Given the description of an element on the screen output the (x, y) to click on. 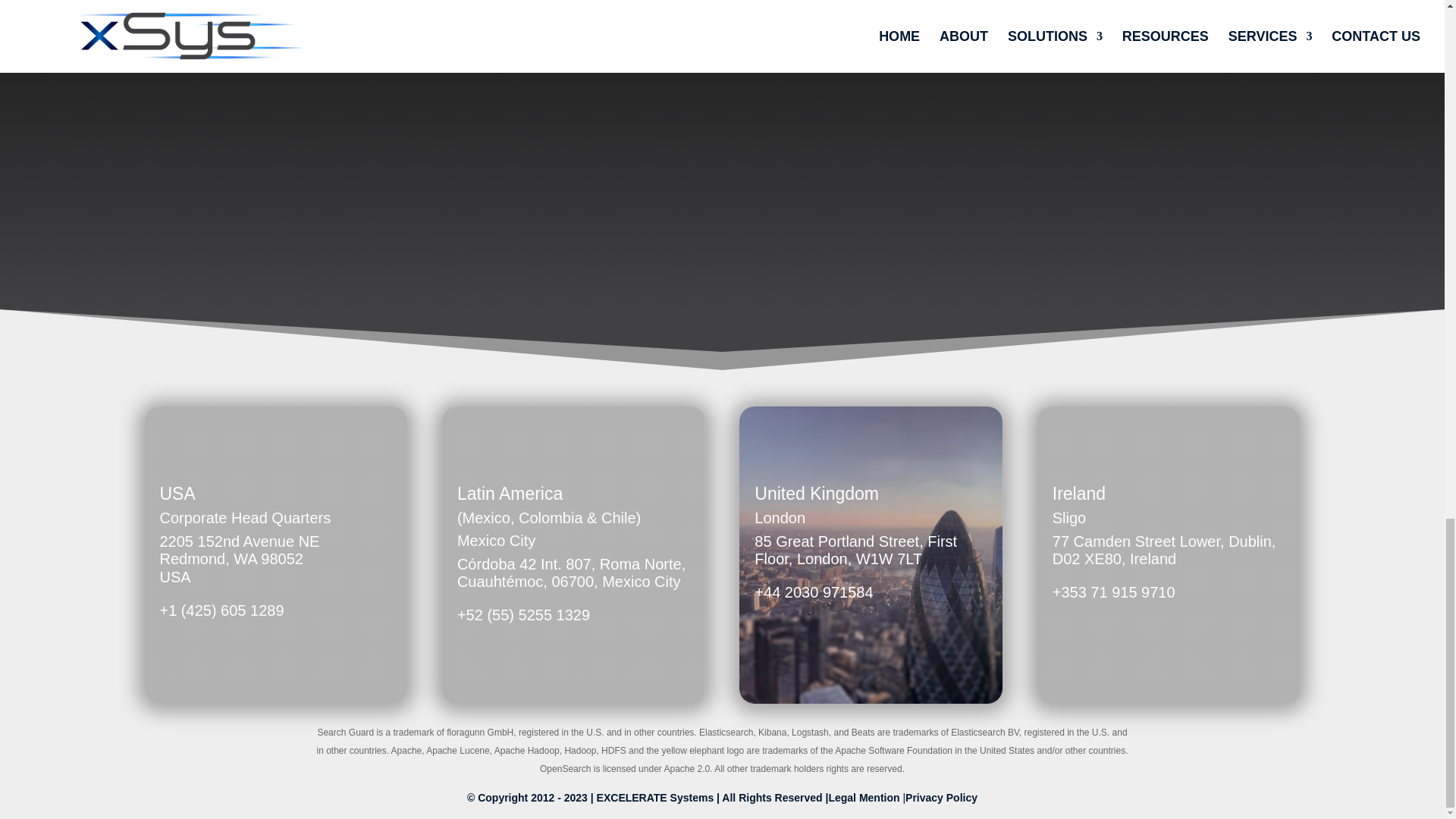
Privacy Policy (940, 797)
Legal Mention (865, 797)
EXCELERATE Systems (655, 797)
